Given the description of an element on the screen output the (x, y) to click on. 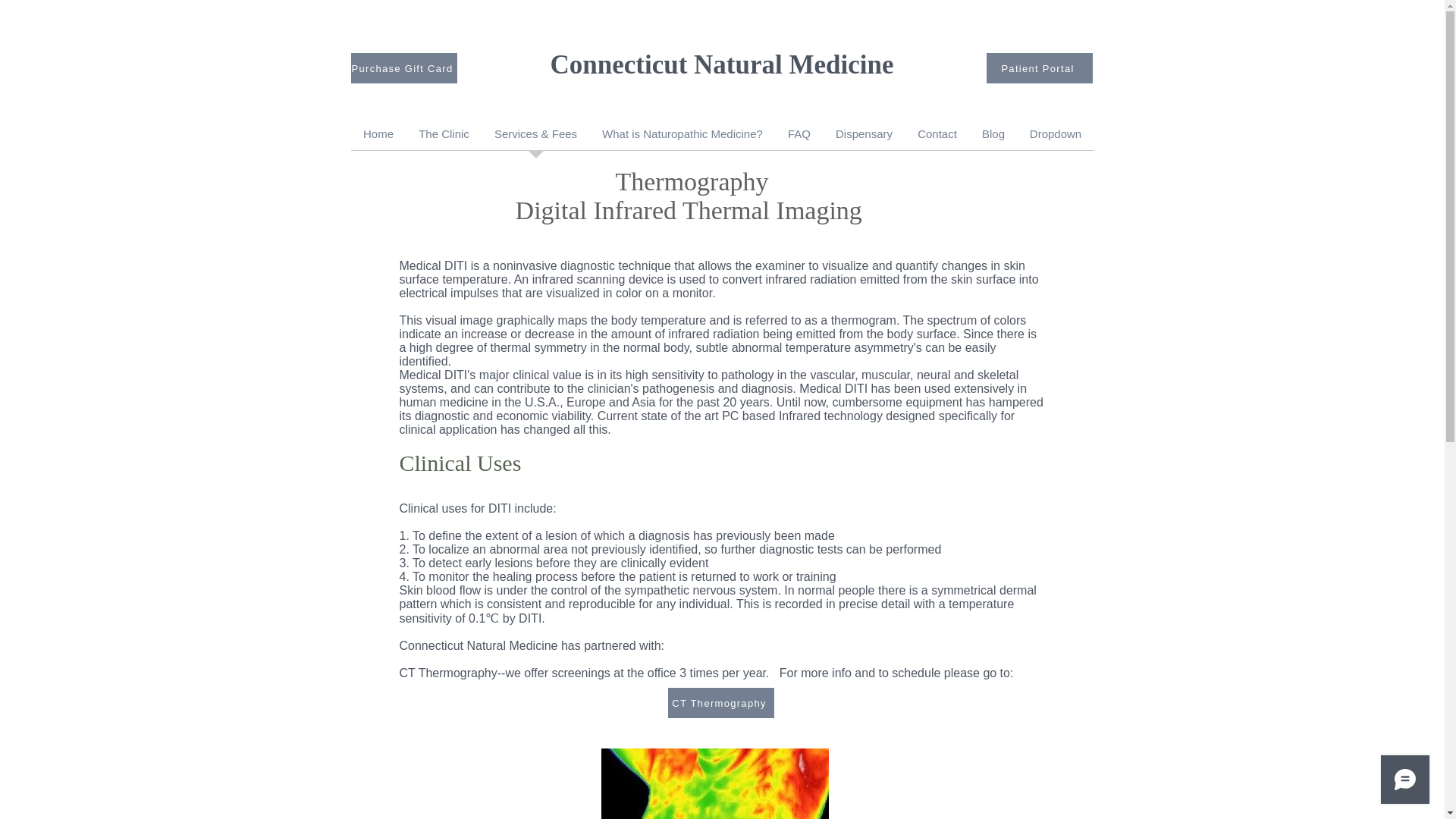
FAQ (798, 138)
Home (378, 138)
What is Naturopathic Medicine? (682, 138)
Patient Portal (1038, 68)
The Clinic (443, 138)
CT Thermography (719, 702)
Purchase Gift Card (403, 68)
Contact (937, 138)
Dispensary (864, 138)
Connecticut Natural Medicine (721, 64)
Blog (992, 138)
